Given the description of an element on the screen output the (x, y) to click on. 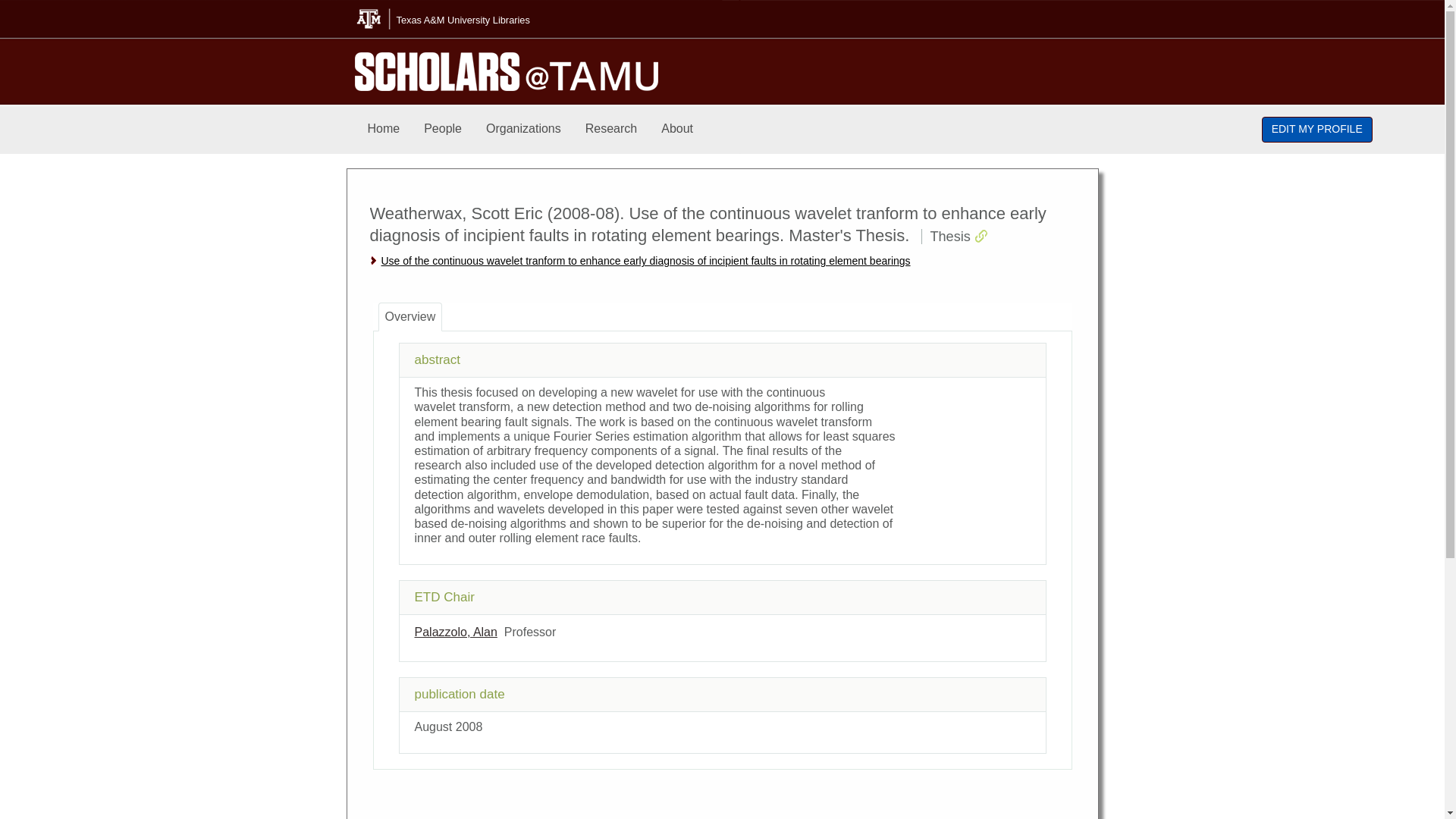
People menu item (443, 128)
People (443, 128)
Research (611, 128)
Research menu item (611, 128)
Palazzolo, Alan (454, 631)
Home (383, 128)
name (454, 631)
EDIT MY PROFILE (1317, 129)
Organizations menu item (523, 128)
About (676, 128)
Organizations (523, 128)
About menu item (676, 128)
Home menu item (383, 128)
link text (645, 260)
